Given the description of an element on the screen output the (x, y) to click on. 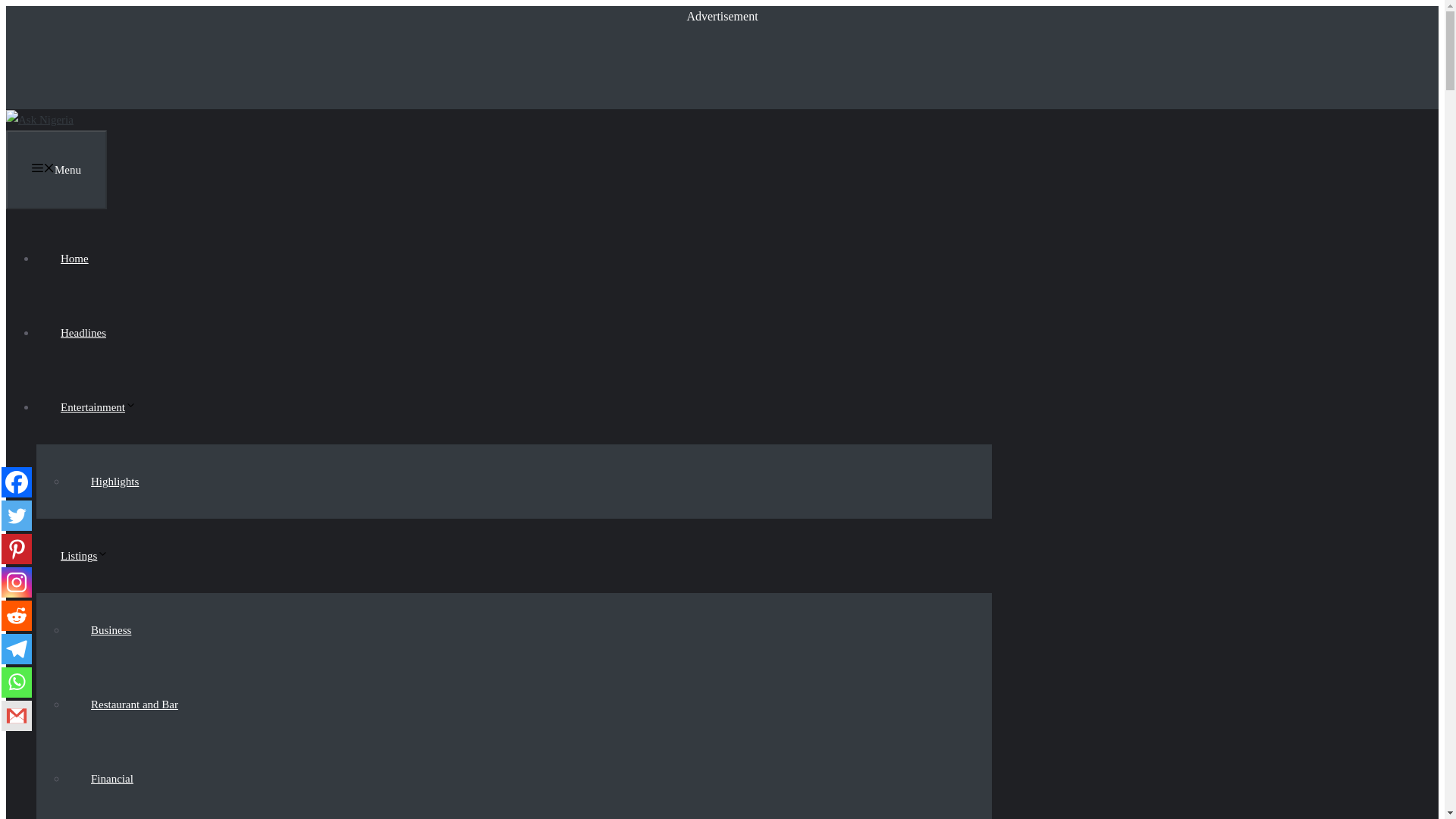
Telegram (16, 648)
Business (110, 629)
Menu (55, 169)
Reddit (16, 615)
Twitter (16, 515)
Restaurant and Bar (134, 704)
Whatsapp (16, 682)
Home (74, 258)
